Given the description of an element on the screen output the (x, y) to click on. 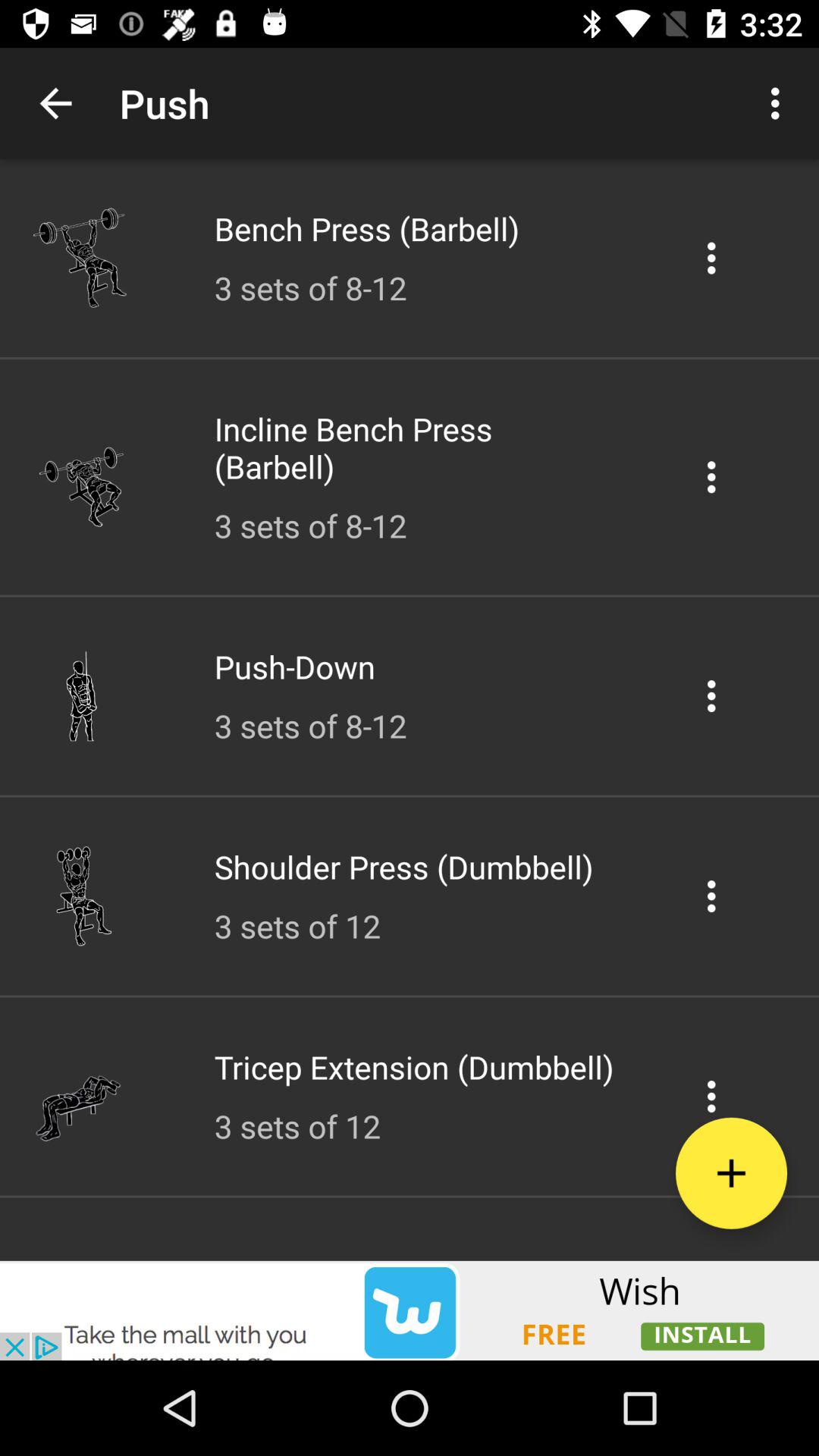
select option (711, 258)
